Given the description of an element on the screen output the (x, y) to click on. 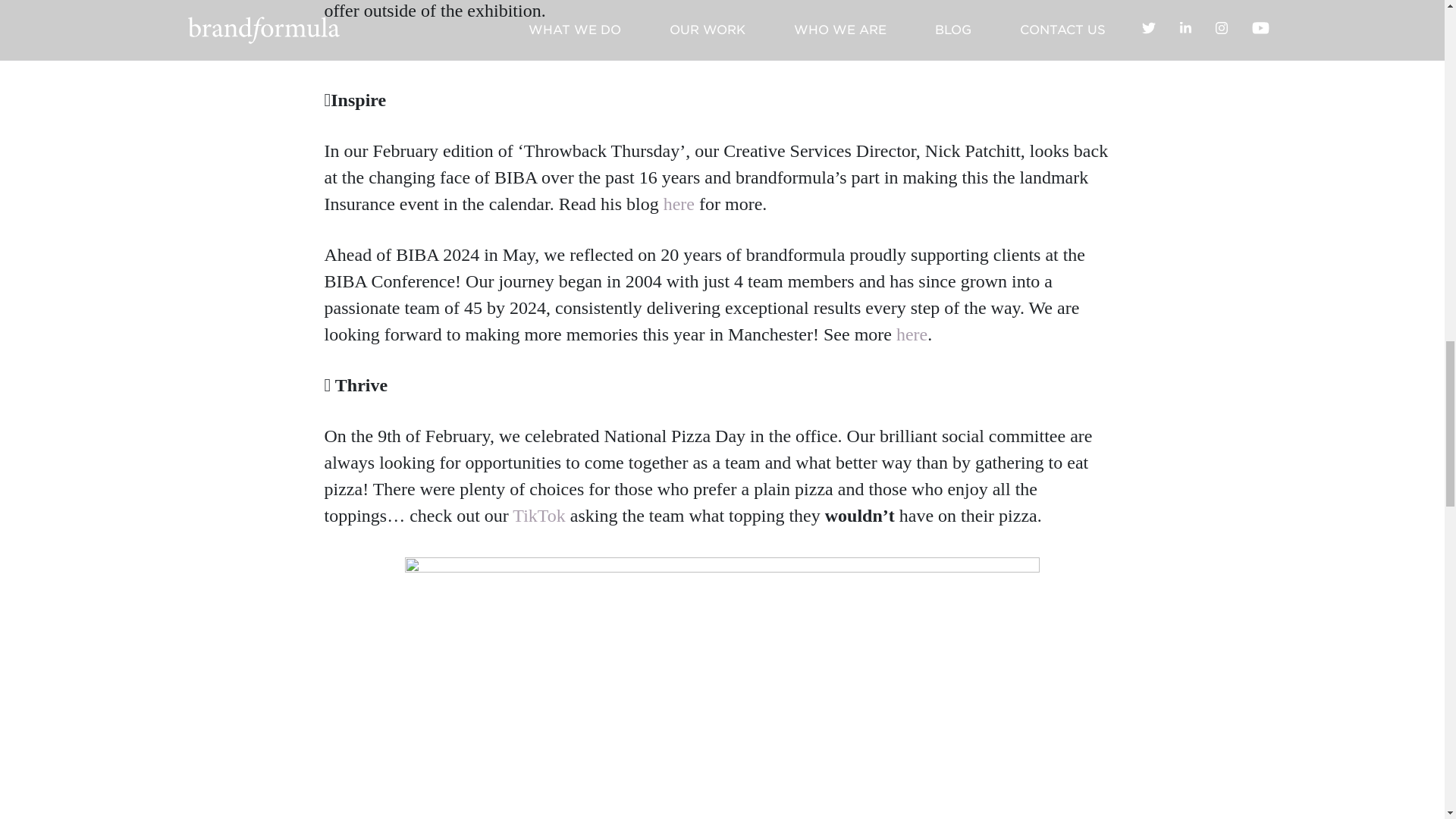
here (678, 203)
TikTok (540, 515)
here (911, 333)
